Given the description of an element on the screen output the (x, y) to click on. 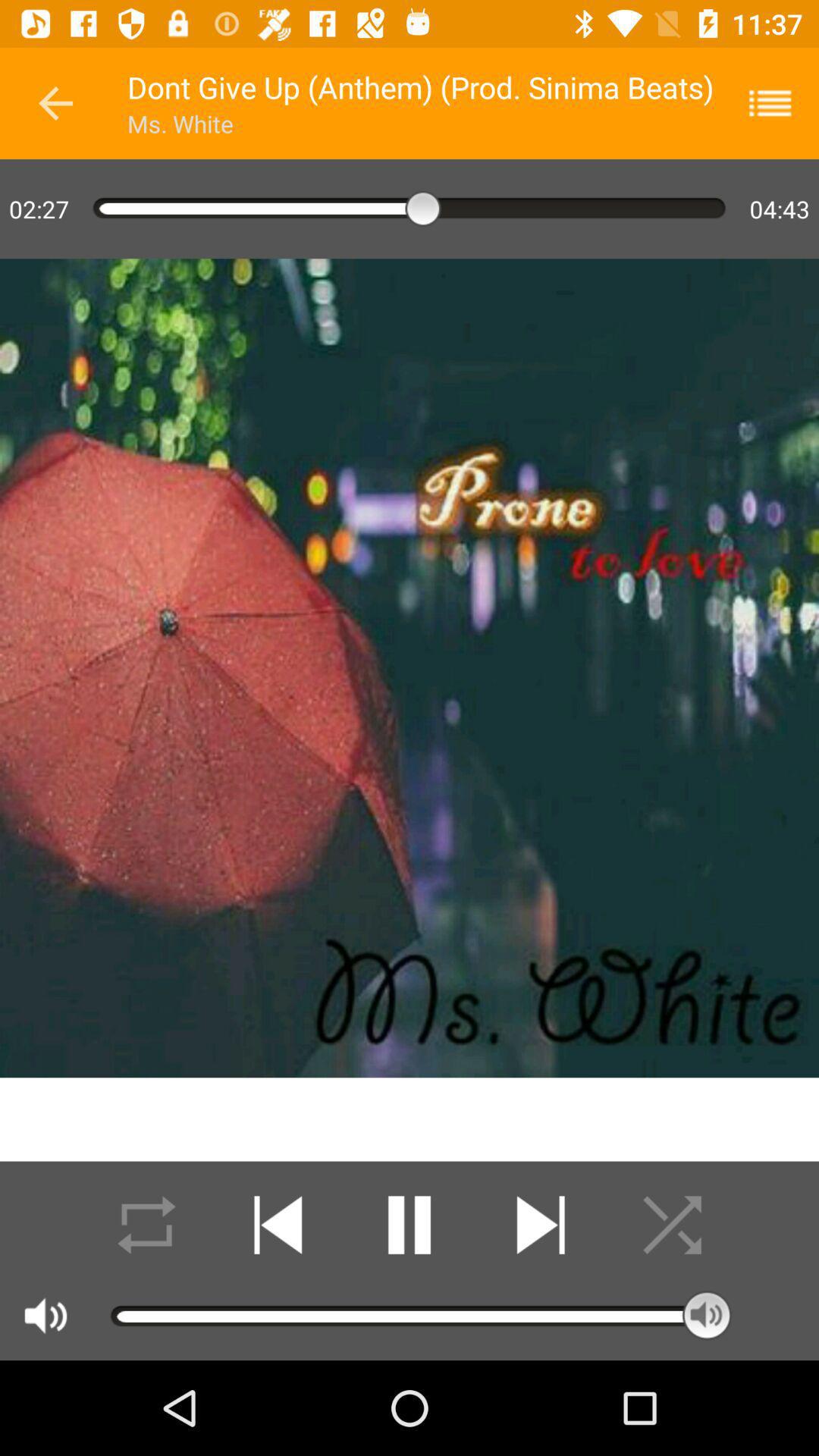
go back (55, 103)
